Given the description of an element on the screen output the (x, y) to click on. 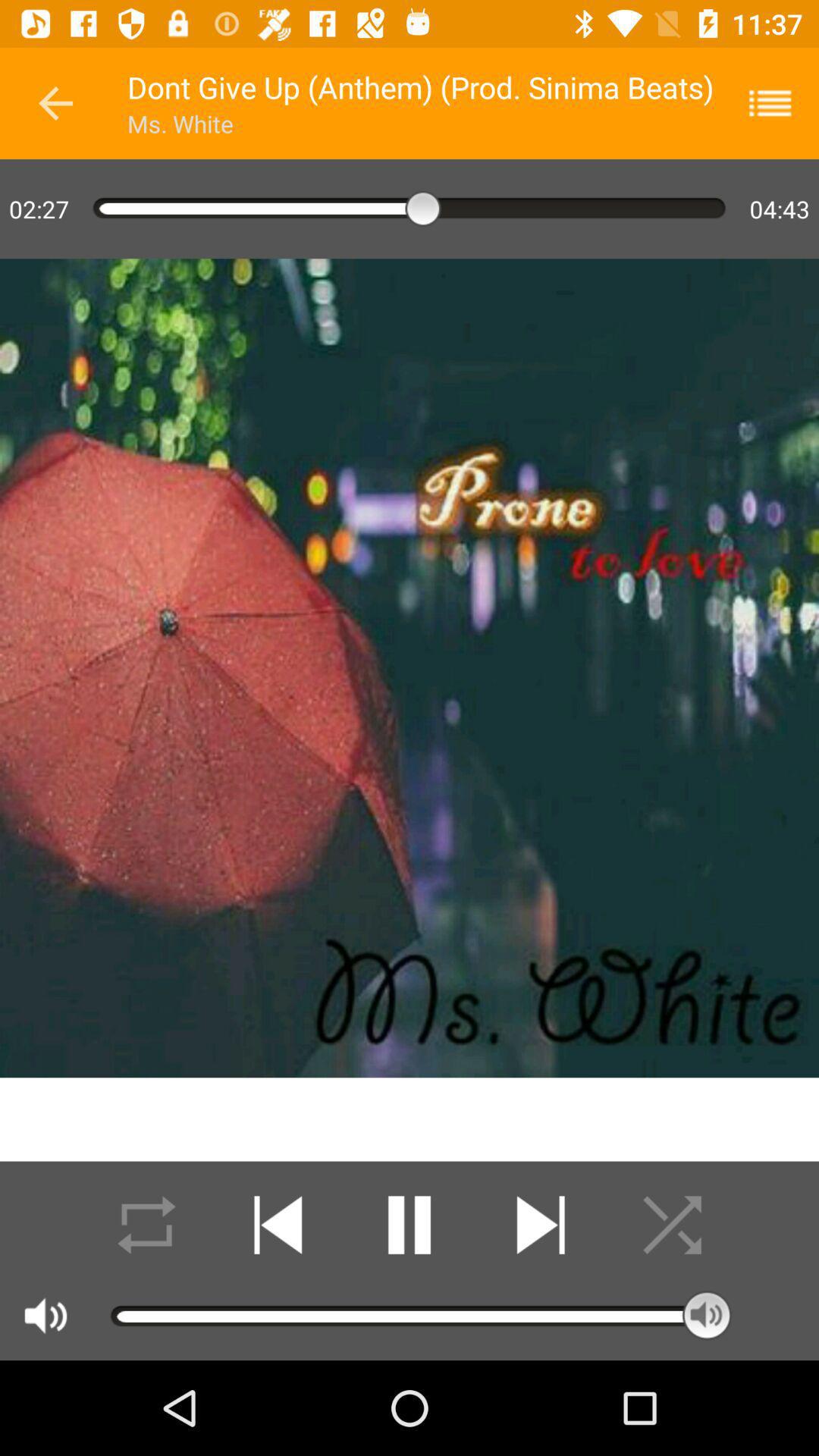
go back (55, 103)
